Given the description of an element on the screen output the (x, y) to click on. 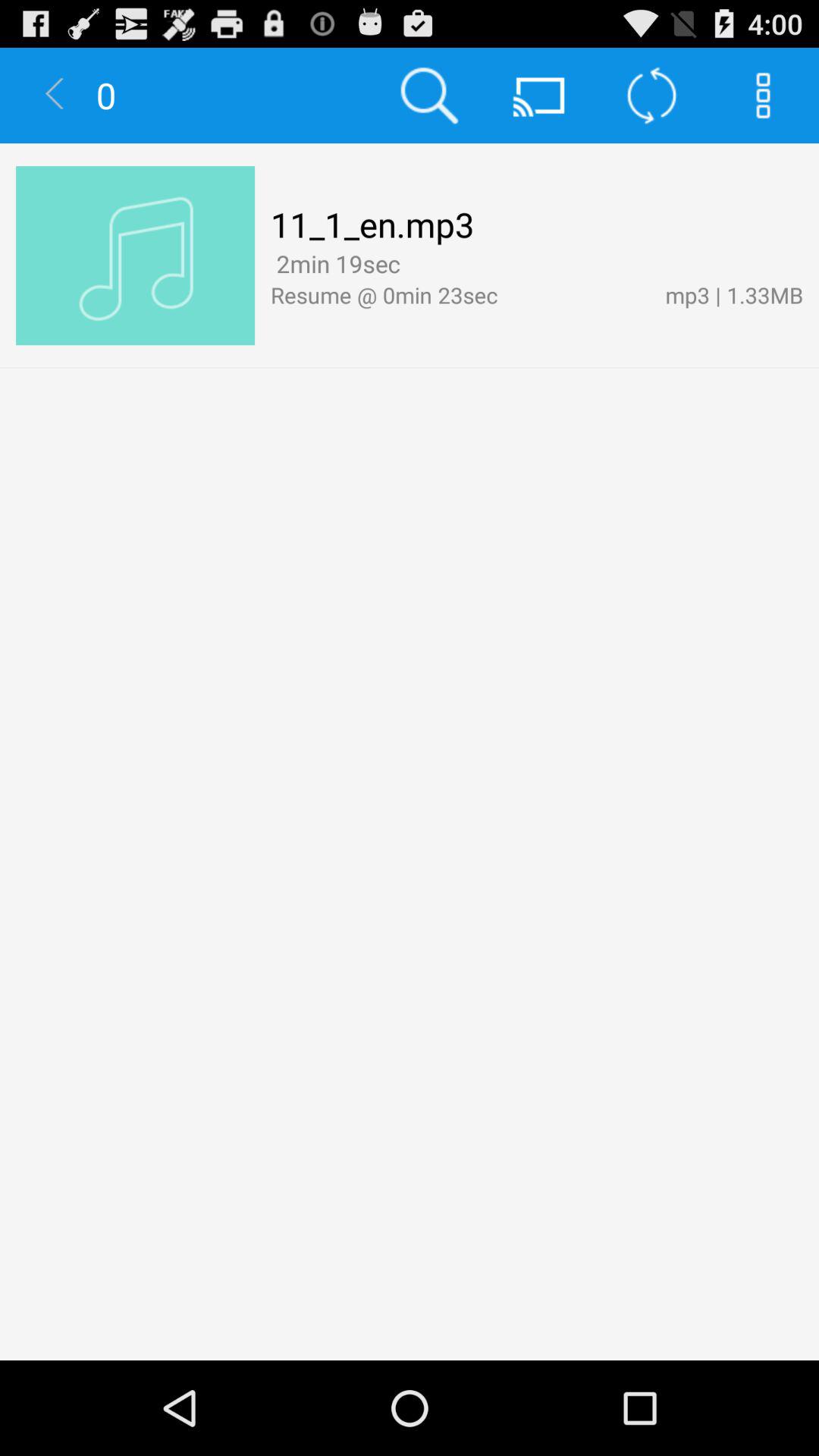
swipe to resume @ 0min 23sec icon (459, 294)
